Given the description of an element on the screen output the (x, y) to click on. 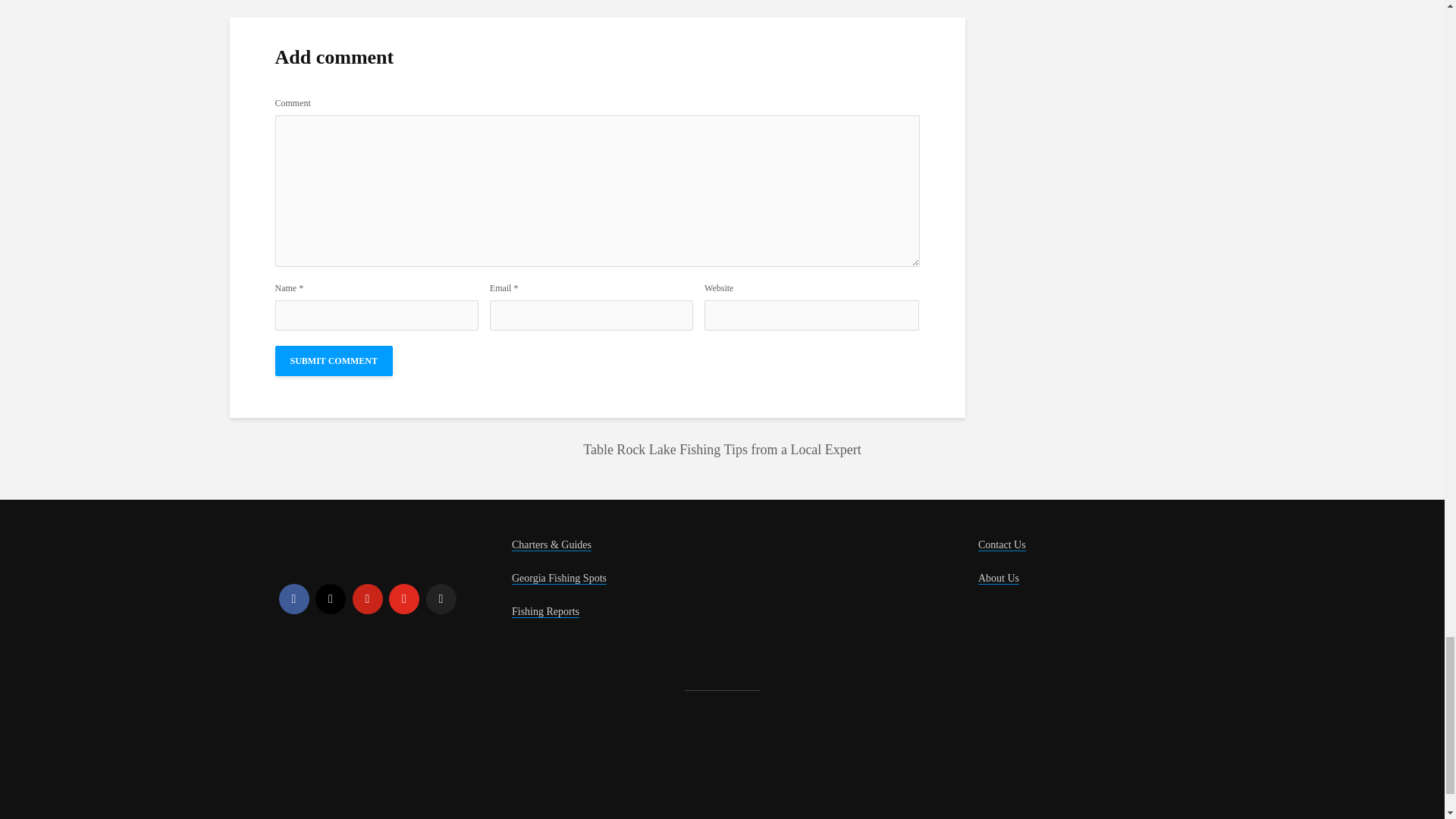
Instagram (330, 598)
DMCA.com Protection Status (392, 773)
Facebook (293, 598)
YouTube (403, 598)
Pinterest (366, 598)
Submit Comment (333, 360)
